Given the description of an element on the screen output the (x, y) to click on. 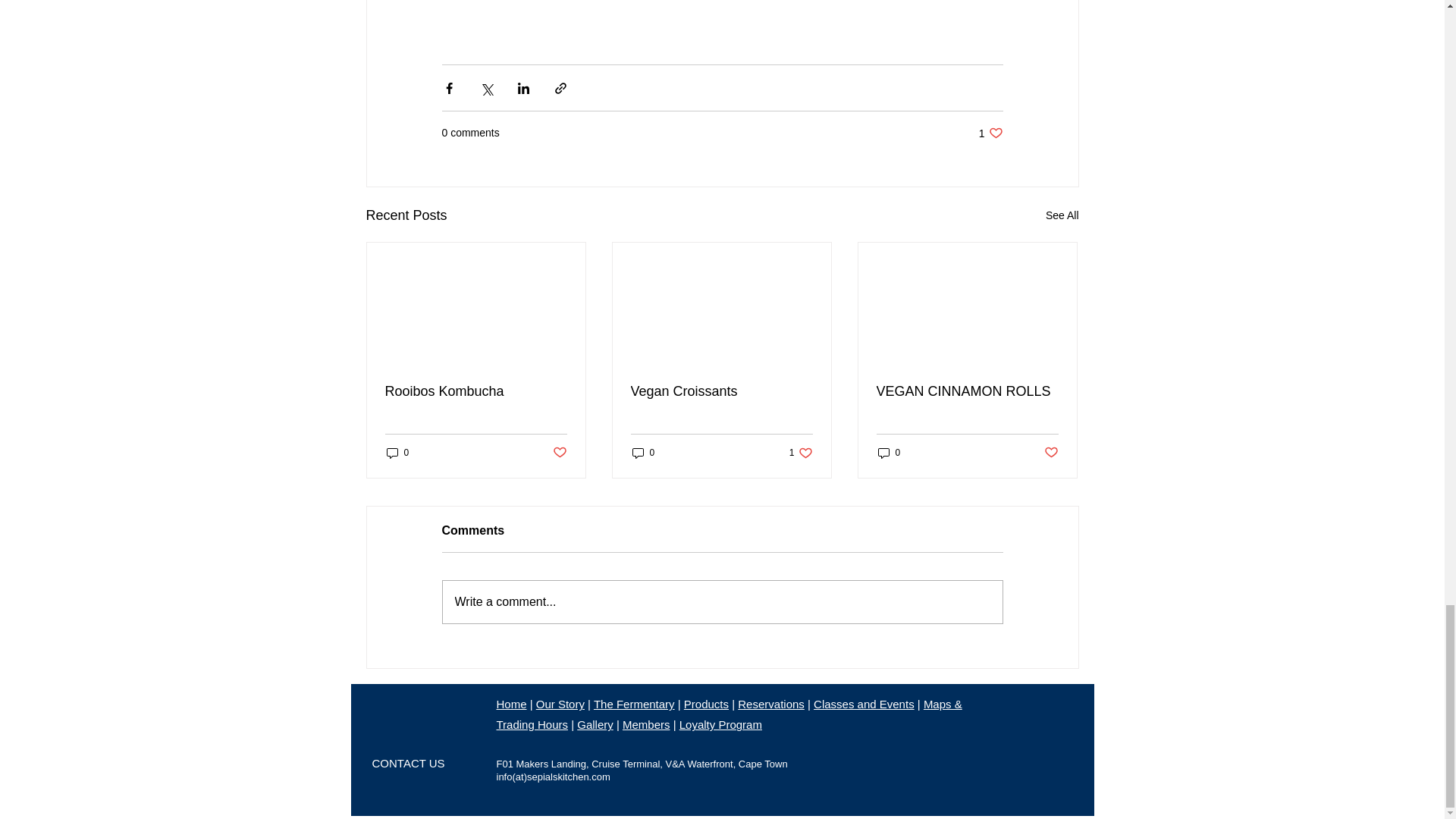
Products (706, 703)
VEGAN CINNAMON ROLLS (967, 391)
Home (510, 703)
0 (397, 452)
Vegan Croissants (721, 391)
0 (643, 452)
0 (889, 452)
Loyalty Program (720, 724)
Write a comment... (722, 601)
Reservations (771, 703)
Rooibos Kombucha (476, 391)
The Fermentary (634, 703)
Members (646, 724)
Gallery (594, 724)
See All (1061, 215)
